Given the description of an element on the screen output the (x, y) to click on. 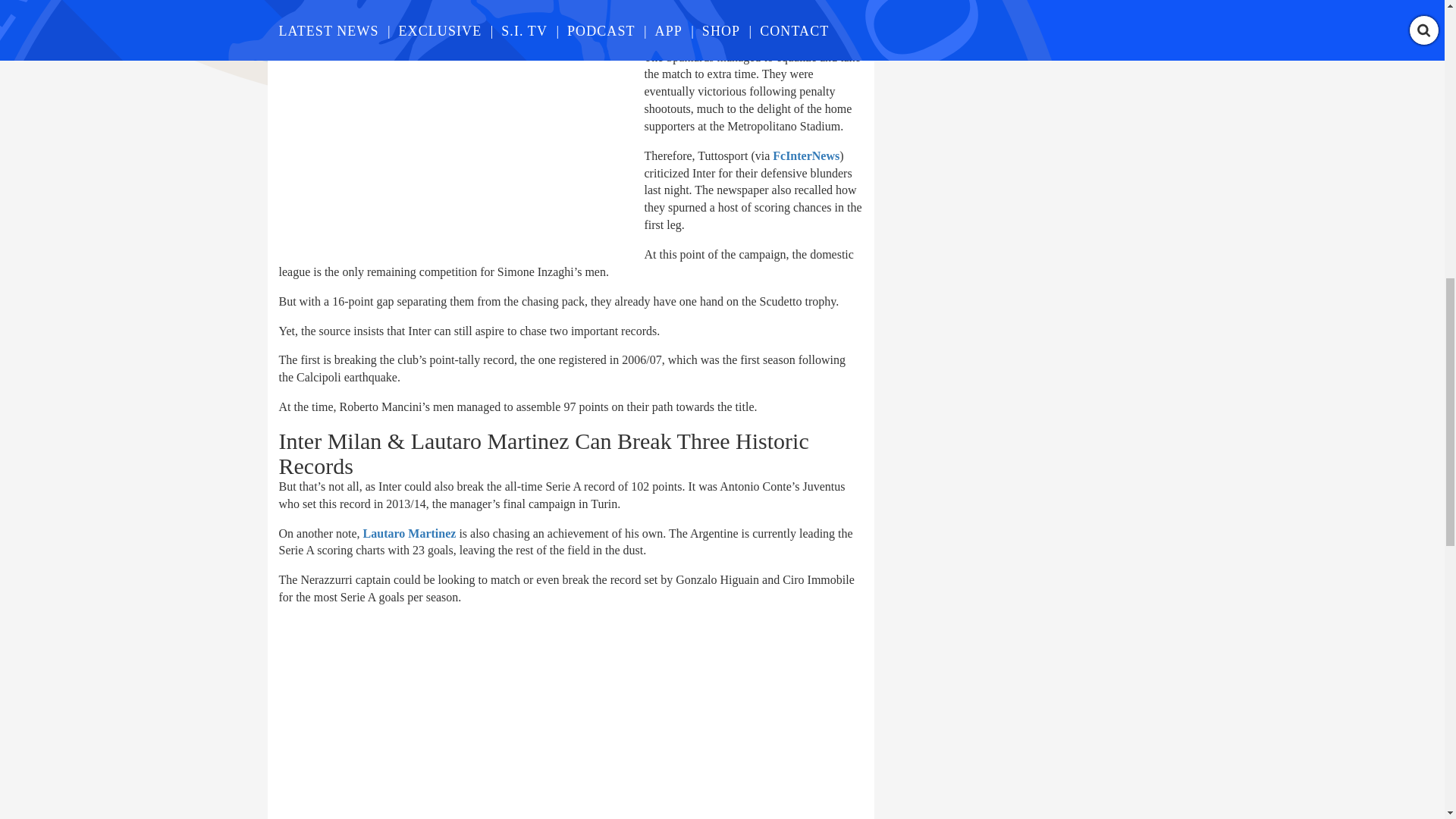
FcInterNews (806, 155)
Lautaro Martinez (409, 533)
YouTube video player (491, 719)
